Given the description of an element on the screen output the (x, y) to click on. 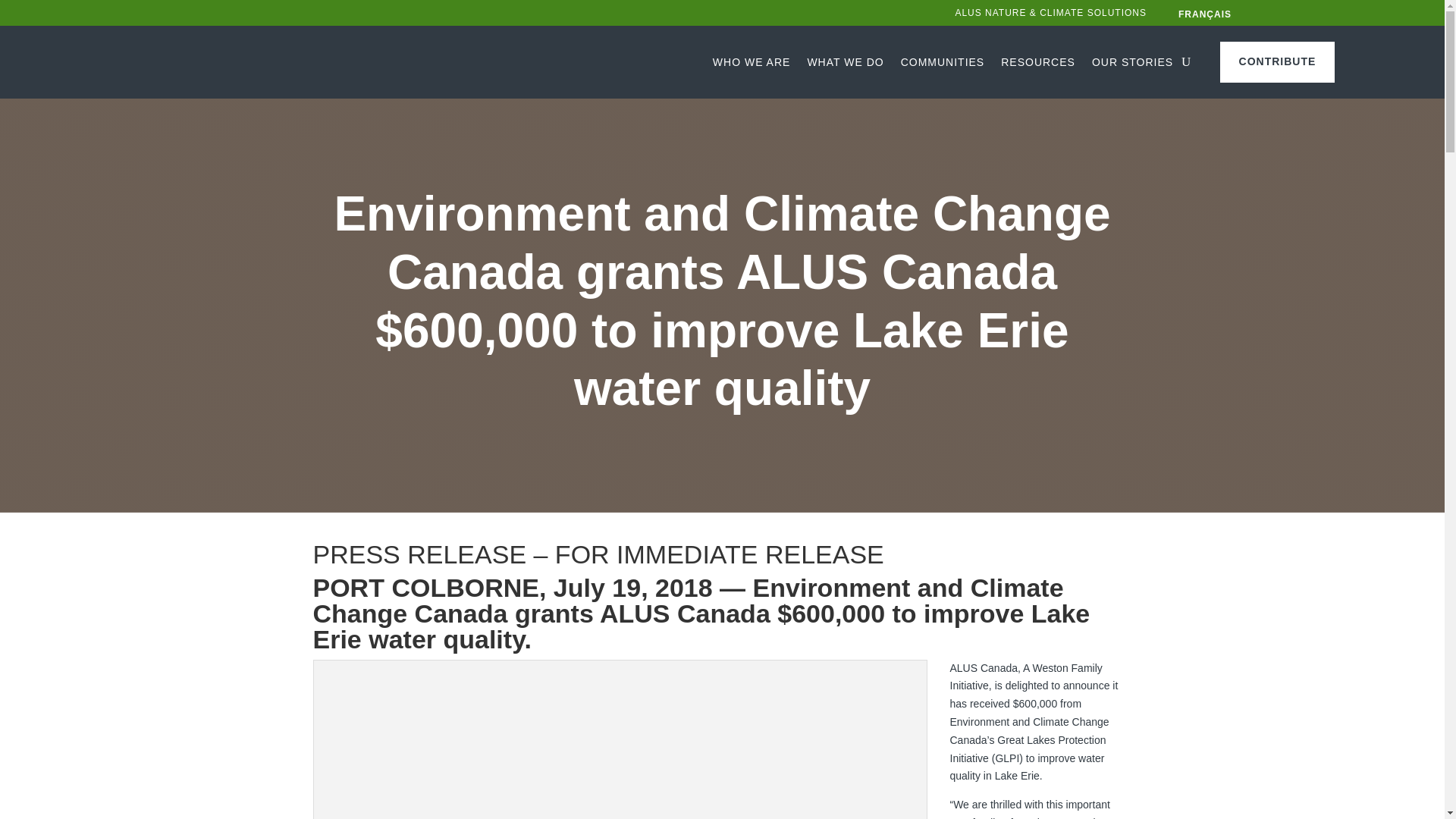
What ALUS does (844, 61)
COMMUNITIES (943, 61)
OUR STORIES (1132, 61)
Resources (1038, 61)
WHAT WE DO (844, 61)
WHO WE ARE (751, 61)
CONTRIBUTE (1277, 61)
About ALUS (751, 61)
Communities that work with ALUS (943, 61)
RESOURCES (1038, 61)
